Given the description of an element on the screen output the (x, y) to click on. 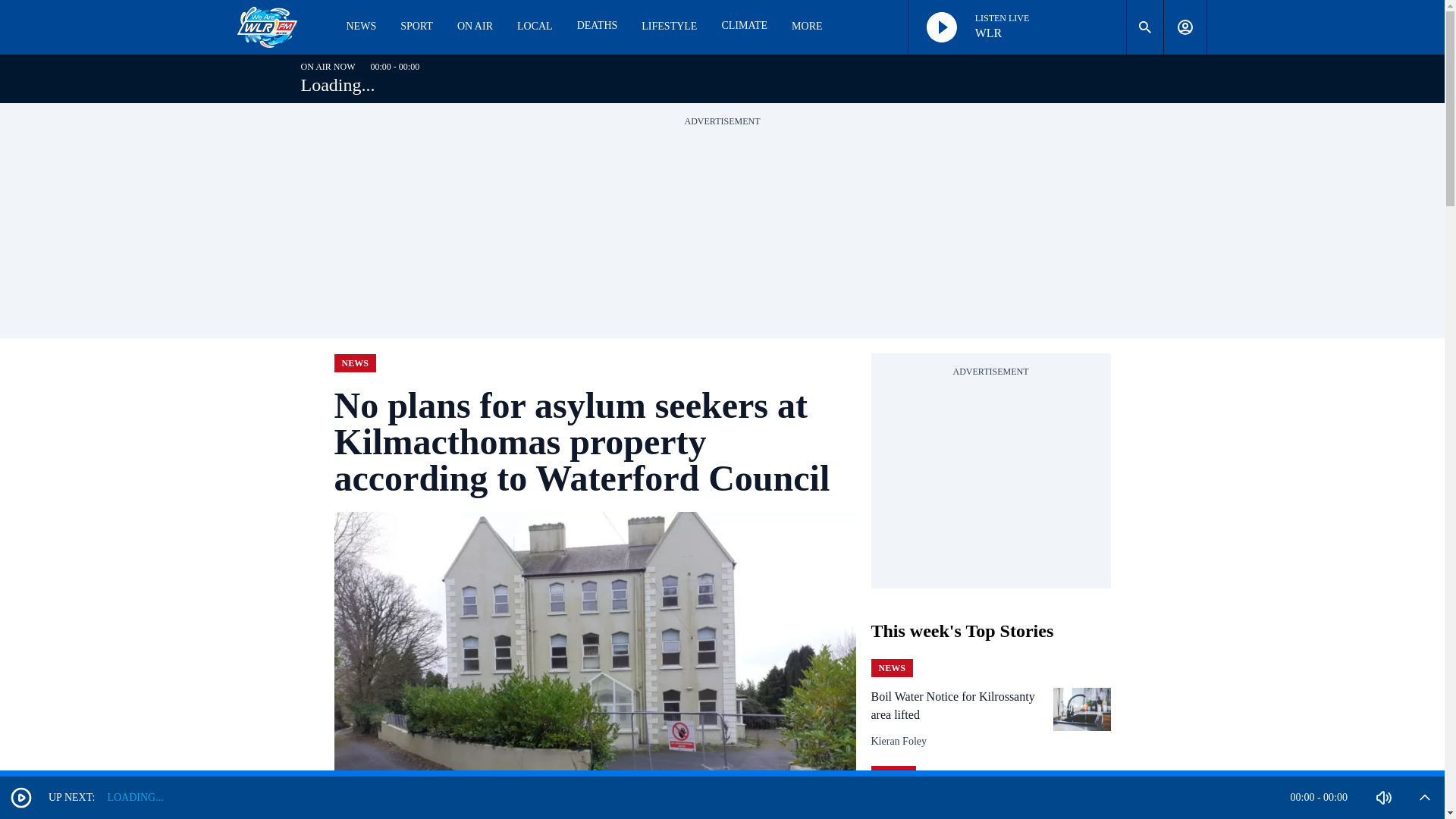
News (354, 362)
Sport (892, 774)
Molumby named in Republic of Ireland squad (959, 806)
Boil Water Notice for Kilrossanty area lifted (959, 705)
News (891, 668)
